Given the description of an element on the screen output the (x, y) to click on. 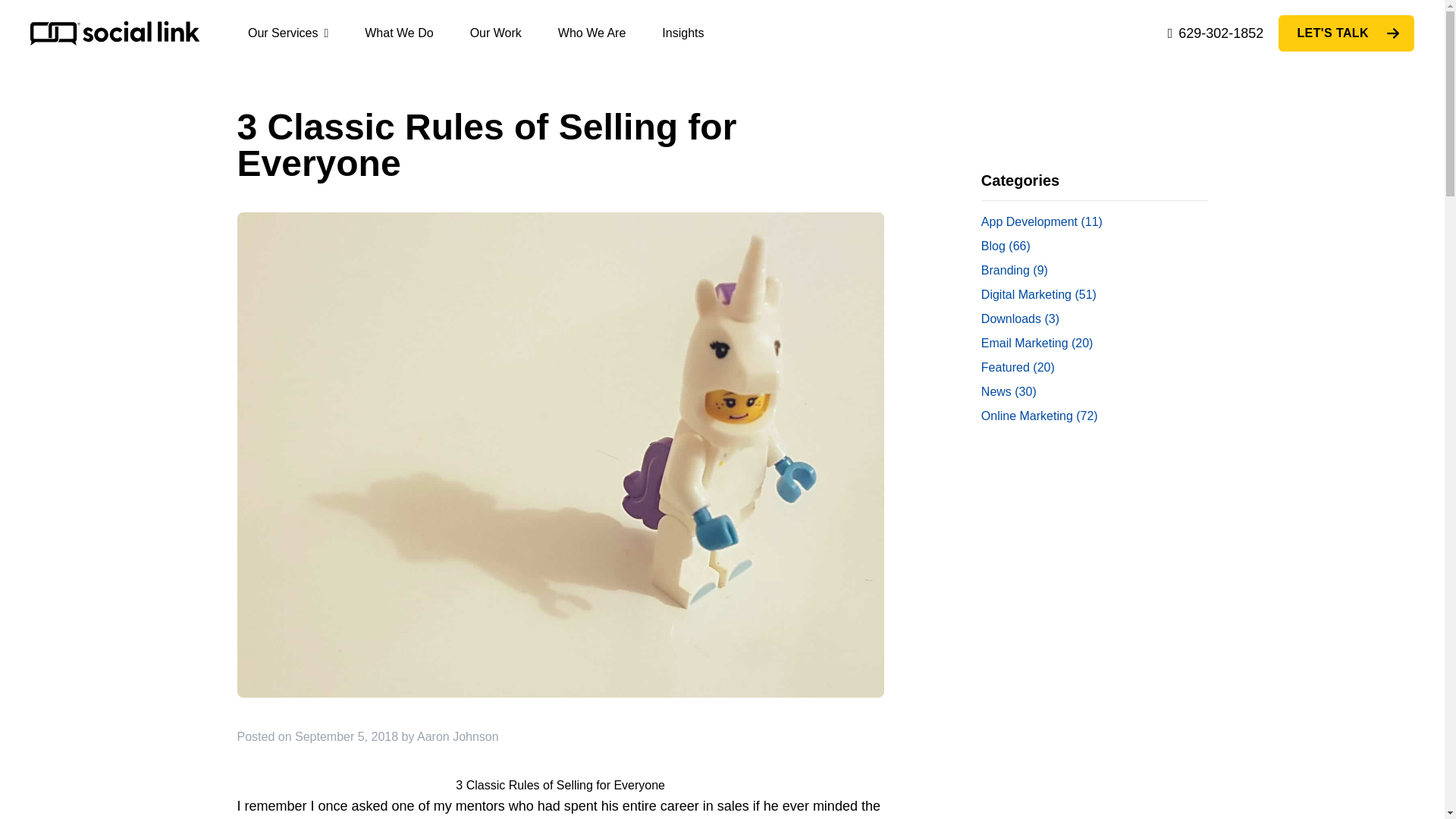
Insights (682, 32)
LET'S TALK (1345, 33)
Our Work (495, 32)
629-302-1852 (1215, 33)
What We Do (398, 32)
Who We Are (591, 32)
